Given the description of an element on the screen output the (x, y) to click on. 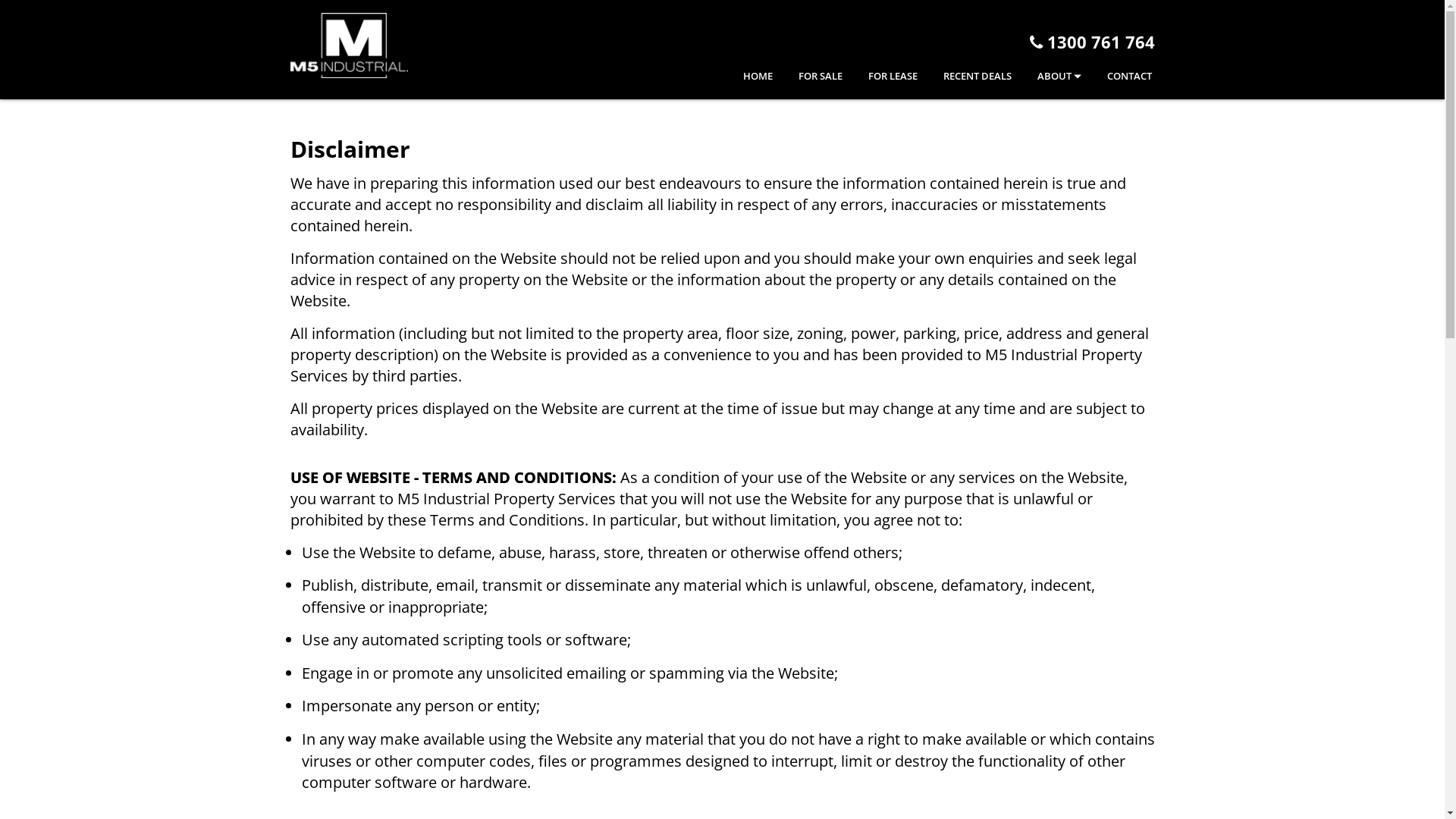
1300 761 764 Element type: text (1091, 41)
FOR SALE Element type: text (808, 77)
FOR LEASE Element type: text (880, 77)
ABOUT Element type: text (1047, 77)
CONTACT Element type: text (1117, 77)
HOME Element type: text (746, 77)
RECENT DEALS Element type: text (965, 77)
